Given the description of an element on the screen output the (x, y) to click on. 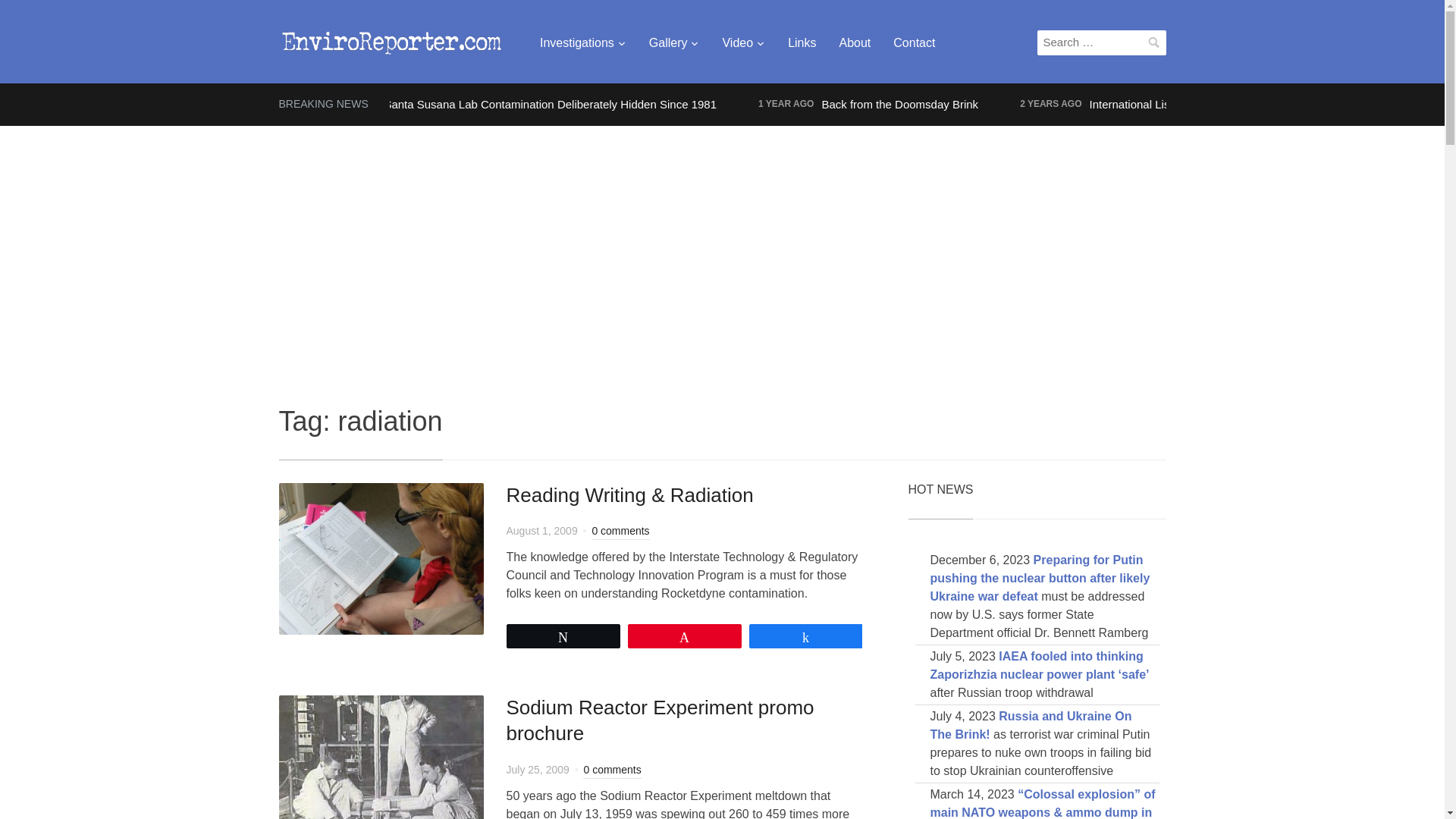
Investigations (583, 43)
Search (1154, 42)
Sodium Reactor Experiment promo brochure (381, 770)
Back from the Doomsday Brink (899, 103)
Hot News. Real Hot News. (392, 39)
Search (1154, 42)
International List of Radiation Monitoring Stations (1212, 103)
